Given the description of an element on the screen output the (x, y) to click on. 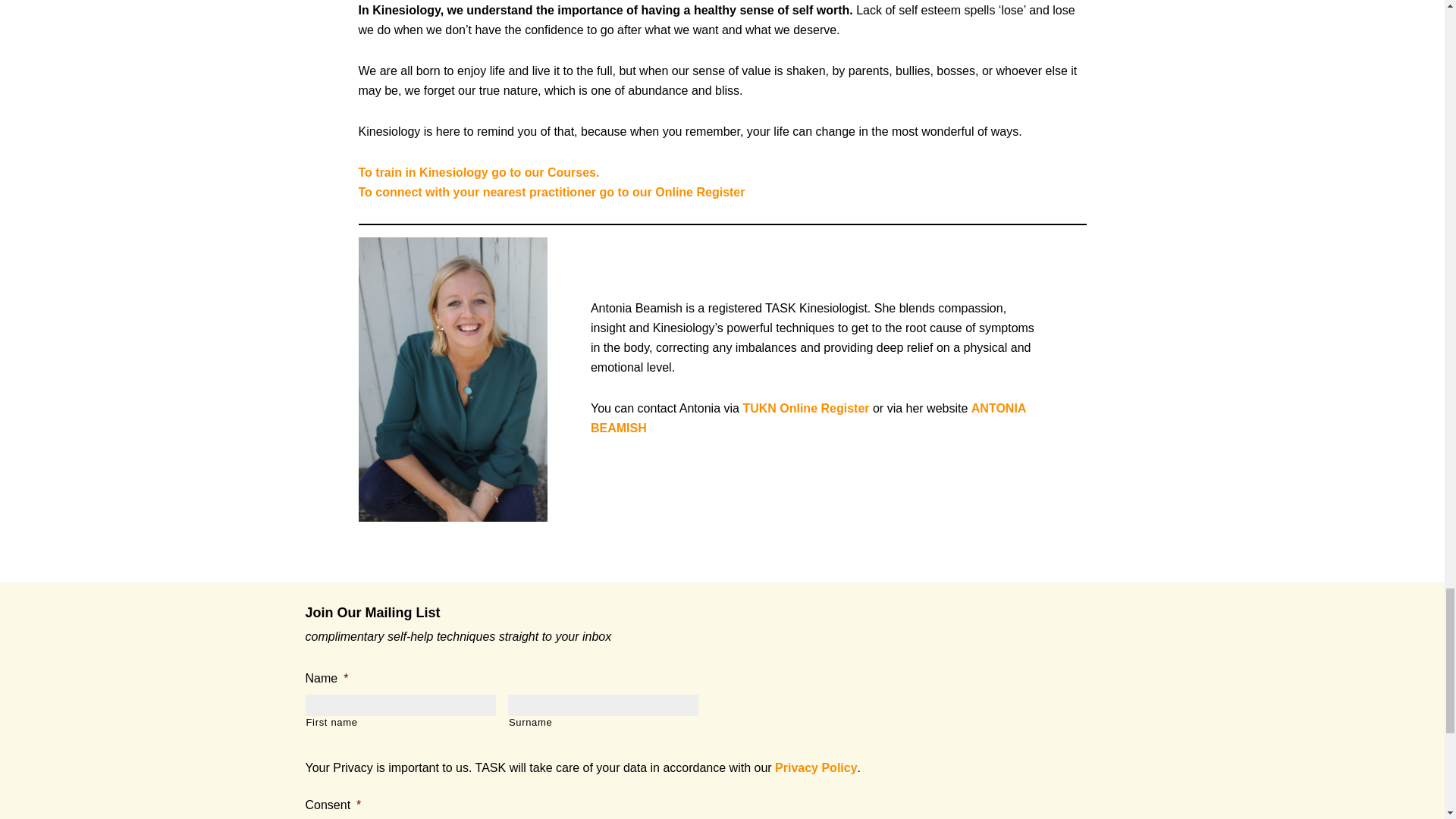
Privacy Policy (815, 767)
TUKN Online Register (805, 408)
ANTONIA BEAMISH (808, 418)
To train in Kinesiology go to our Courses. (478, 172)
